Given the description of an element on the screen output the (x, y) to click on. 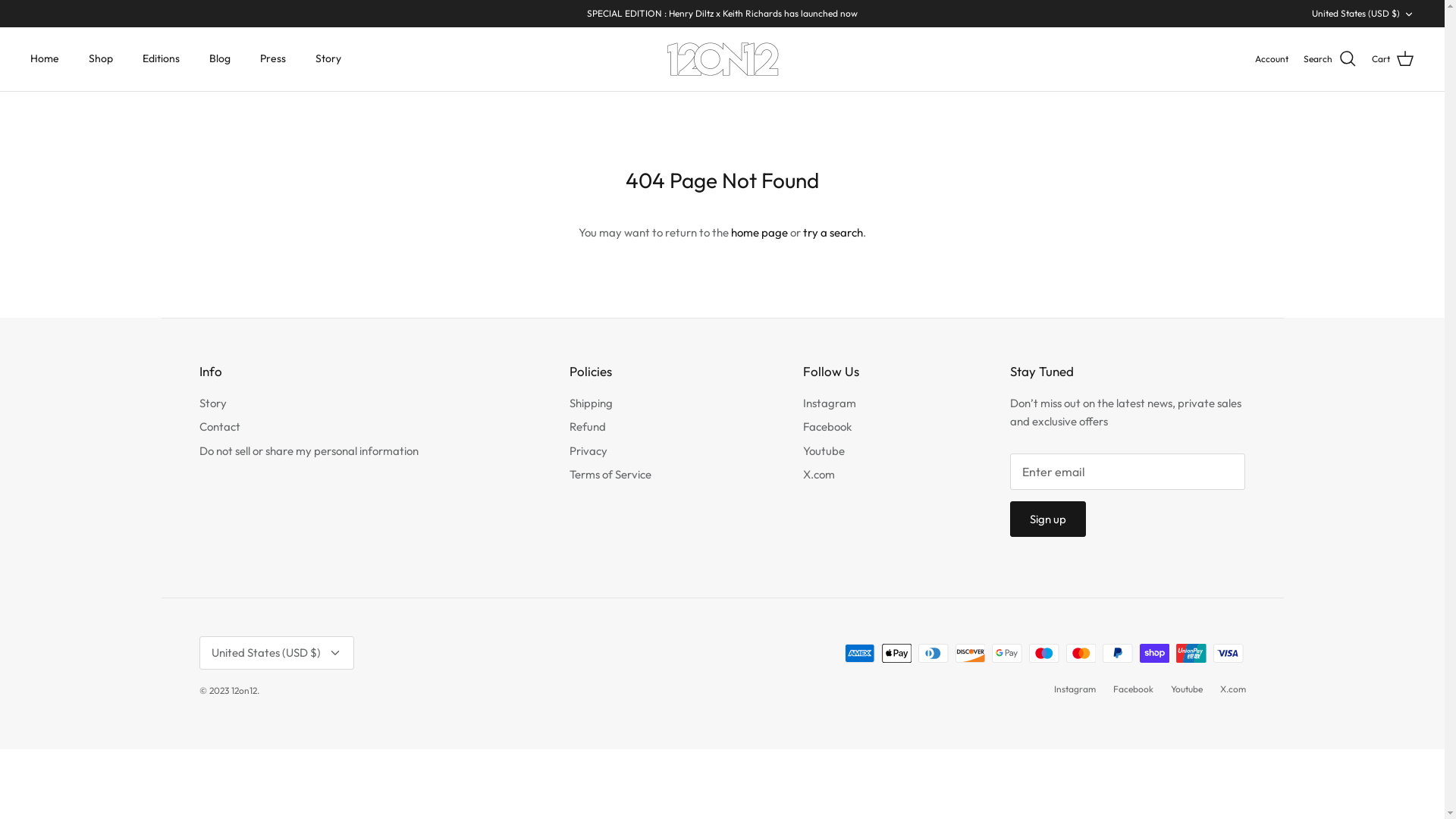
Refund Element type: text (587, 426)
12on12 Element type: hover (722, 58)
Shop Element type: text (100, 58)
Instagram Element type: text (1074, 688)
Story Element type: text (211, 402)
Search Element type: text (1329, 59)
Shipping Element type: text (590, 402)
Editions Element type: text (160, 58)
Privacy Element type: text (588, 450)
Account Element type: text (1271, 58)
Do not sell or share my personal information Element type: text (307, 450)
Story Element type: text (327, 58)
United States (USD $)
Down Element type: text (275, 652)
Contact Element type: text (218, 426)
Facebook Element type: text (1133, 688)
Youtube Element type: text (1186, 688)
Terms of Service Element type: text (610, 474)
home page Element type: text (759, 232)
12on12 Element type: text (243, 689)
X.com Element type: text (1232, 688)
Sign up Element type: text (1047, 518)
United States (USD $)
Down Element type: text (1362, 13)
X.com Element type: text (818, 474)
Instagram Element type: text (829, 402)
Blog Element type: text (219, 58)
Cart Element type: text (1392, 59)
try a search Element type: text (832, 232)
Facebook Element type: text (827, 426)
Press Element type: text (272, 58)
Home Element type: text (44, 58)
Youtube Element type: text (823, 450)
